Given the description of an element on the screen output the (x, y) to click on. 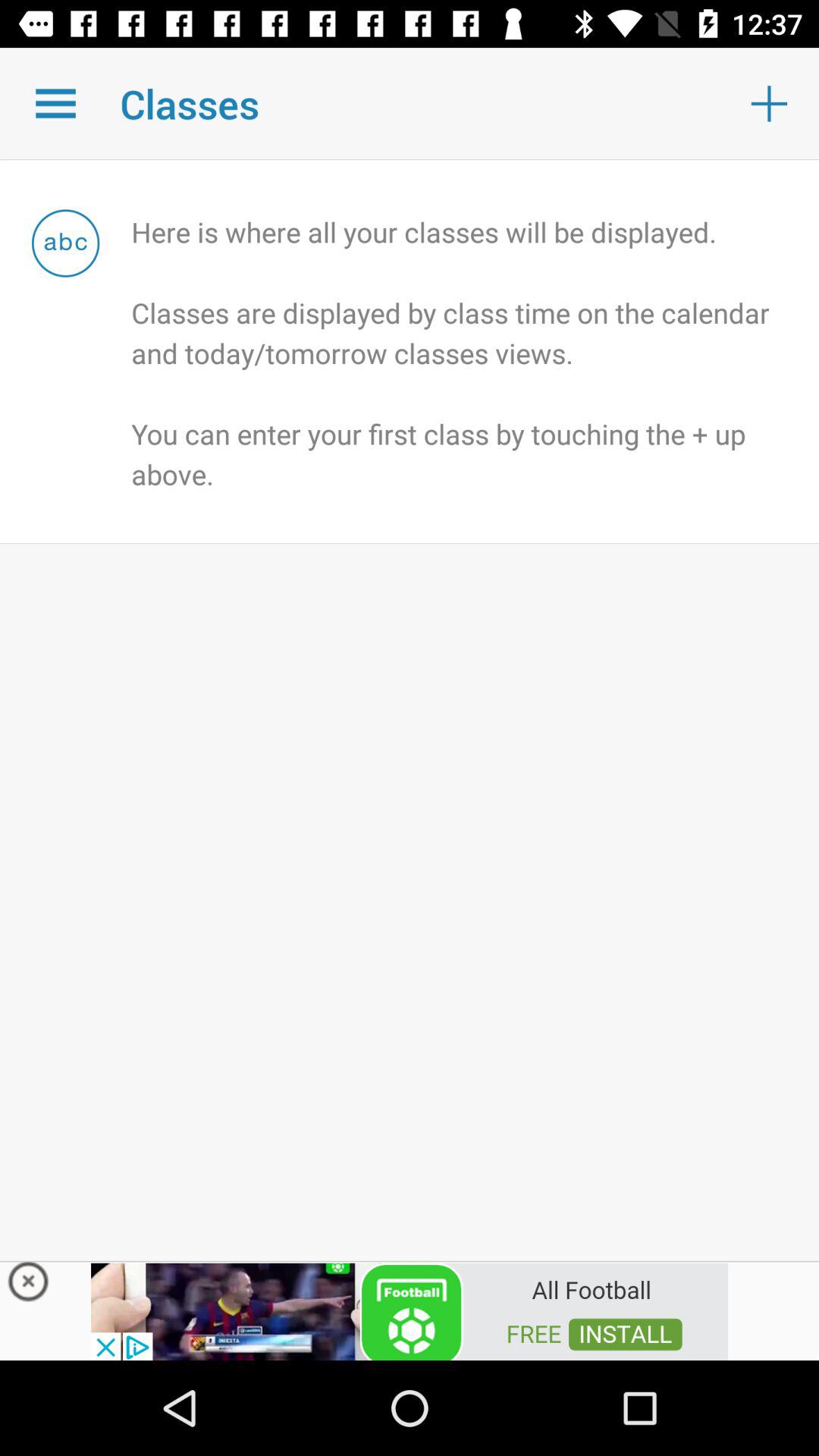
go to advertisement website (409, 1310)
